Given the description of an element on the screen output the (x, y) to click on. 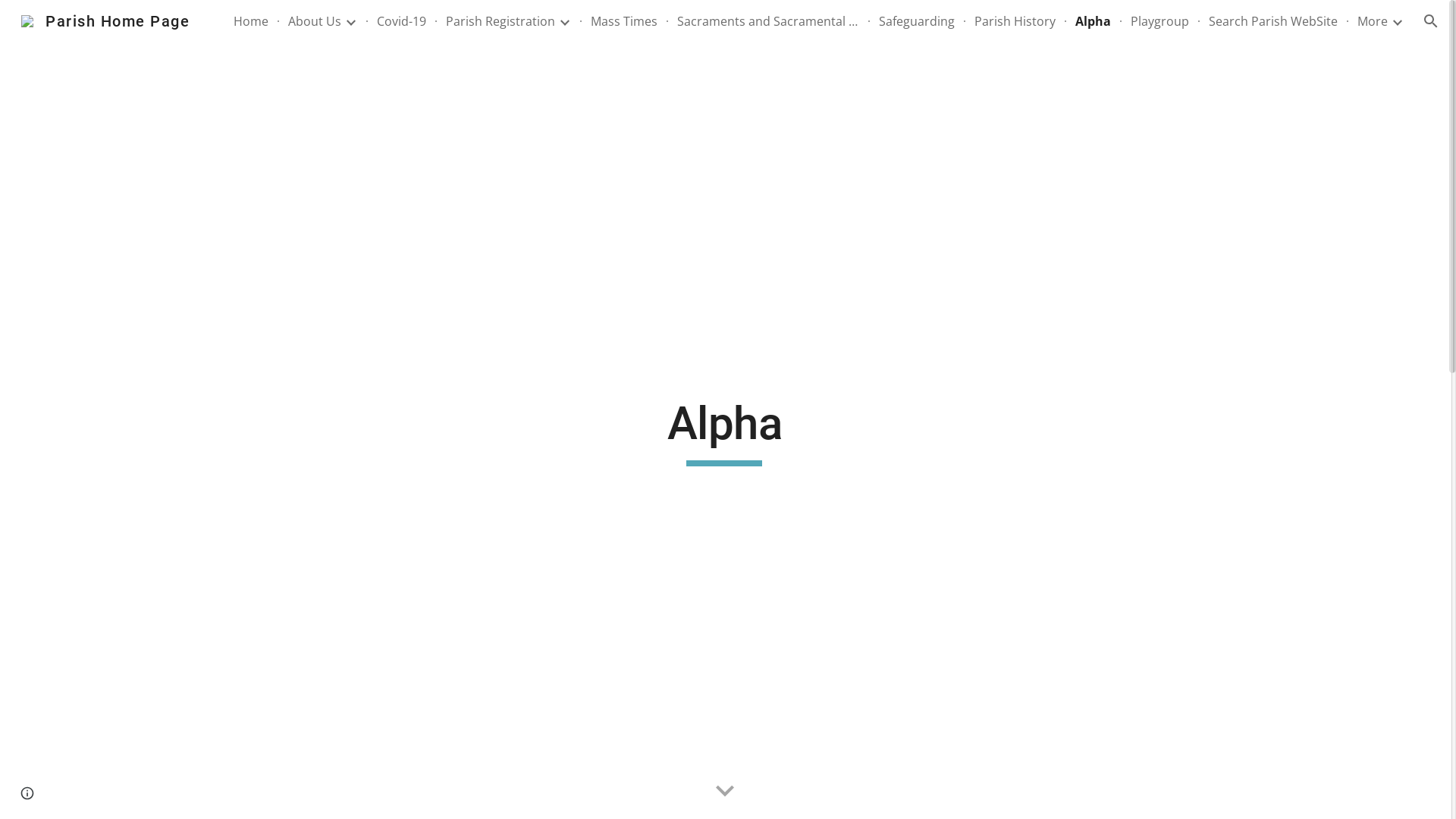
More Element type: text (1372, 20)
Safeguarding Element type: text (916, 20)
Expand/Collapse Element type: hover (350, 20)
Search Parish WebSite Element type: text (1272, 20)
Alpha Element type: text (1092, 20)
Playgroup Element type: text (1159, 20)
Mass Times Element type: text (623, 20)
Sacraments and Sacramental Program Element type: text (768, 20)
About Us Element type: text (314, 20)
Parish Registration Element type: text (500, 20)
Expand/Collapse Element type: hover (564, 20)
Expand/Collapse Element type: hover (1396, 20)
Home Element type: text (250, 20)
Parish History Element type: text (1014, 20)
Covid-19 Element type: text (401, 20)
Parish Home Page Element type: text (105, 19)
